Given the description of an element on the screen output the (x, y) to click on. 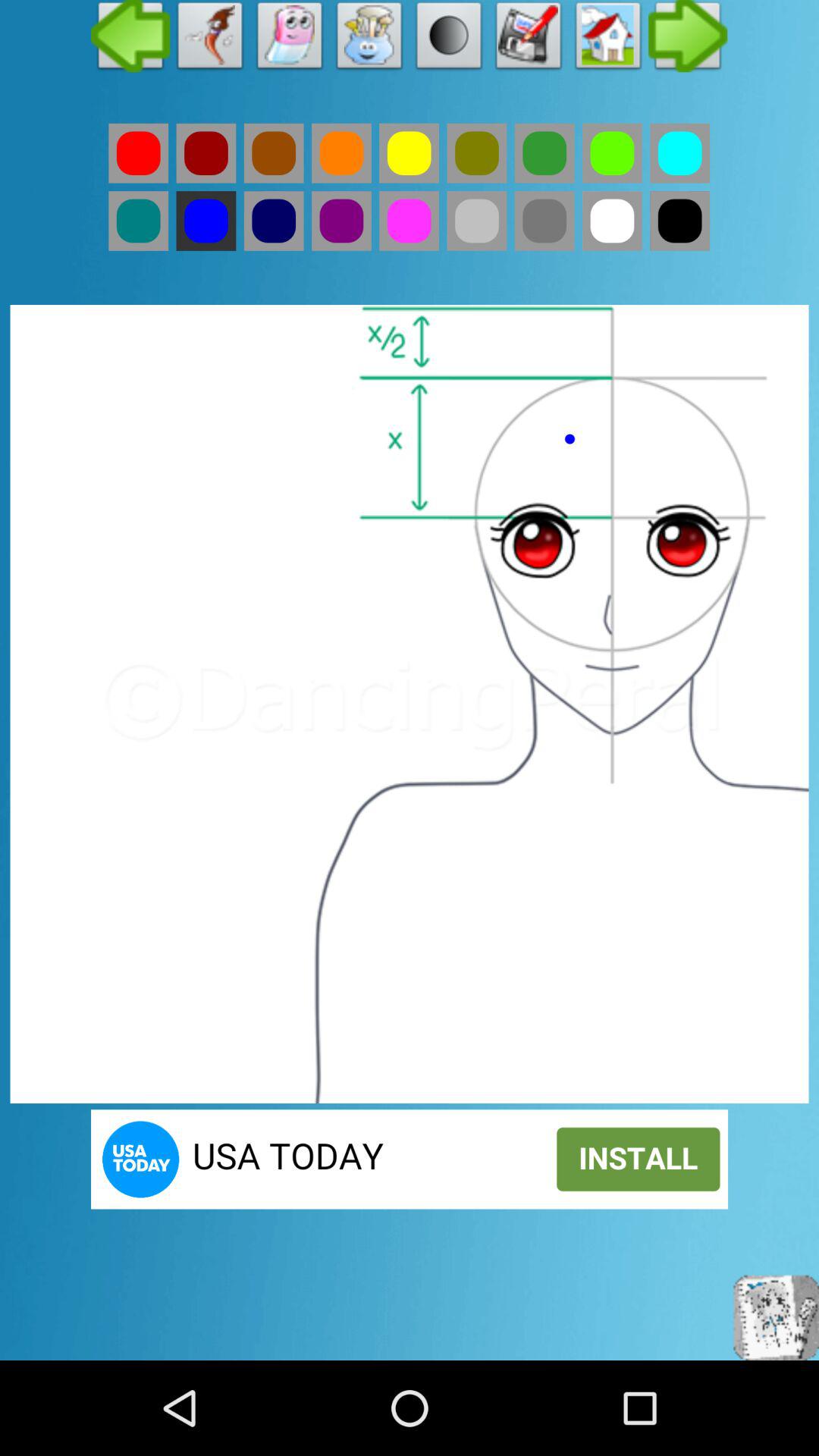
previous menu (130, 39)
